Given the description of an element on the screen output the (x, y) to click on. 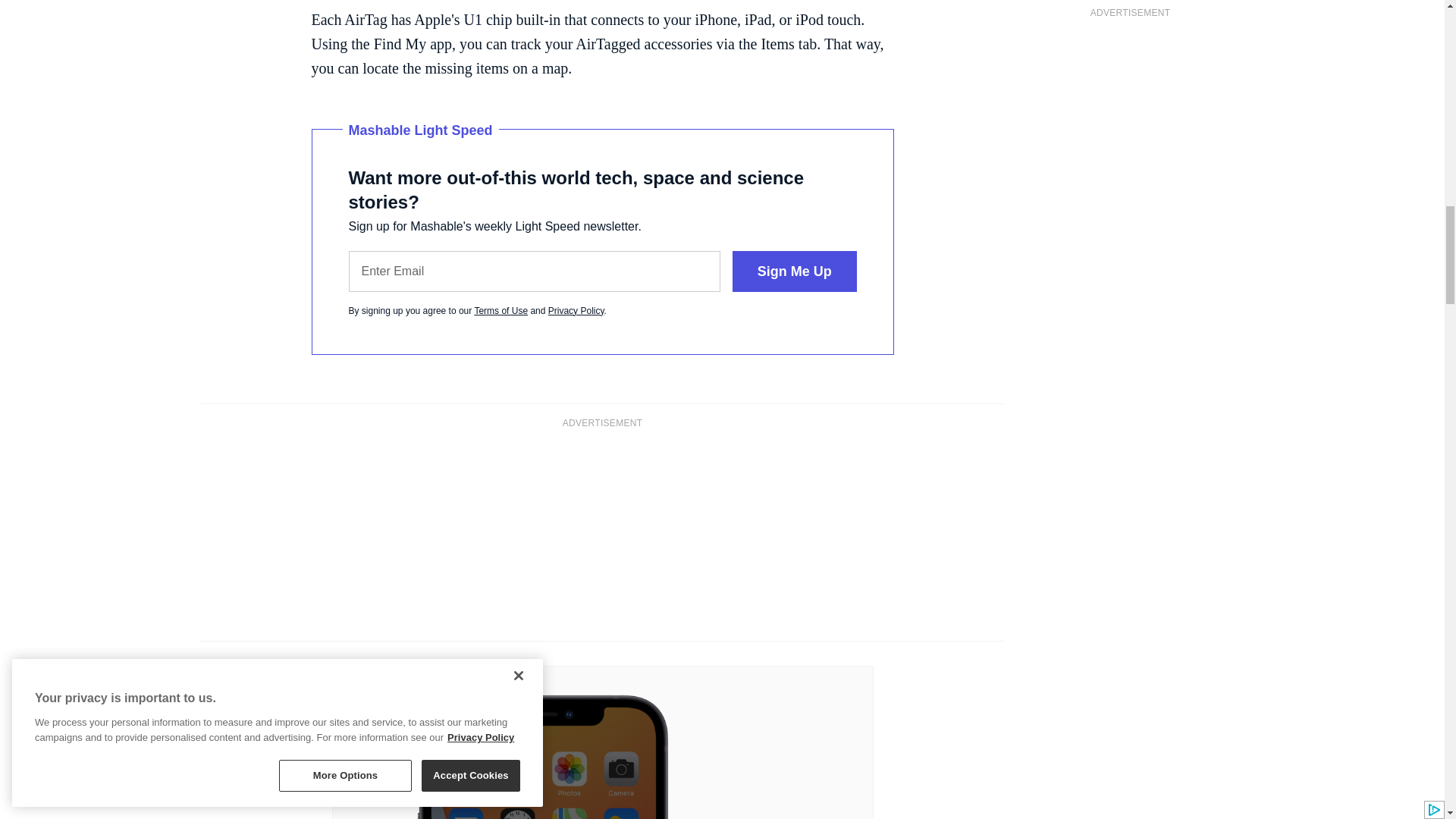
3rd party ad content (601, 532)
